Given the description of an element on the screen output the (x, y) to click on. 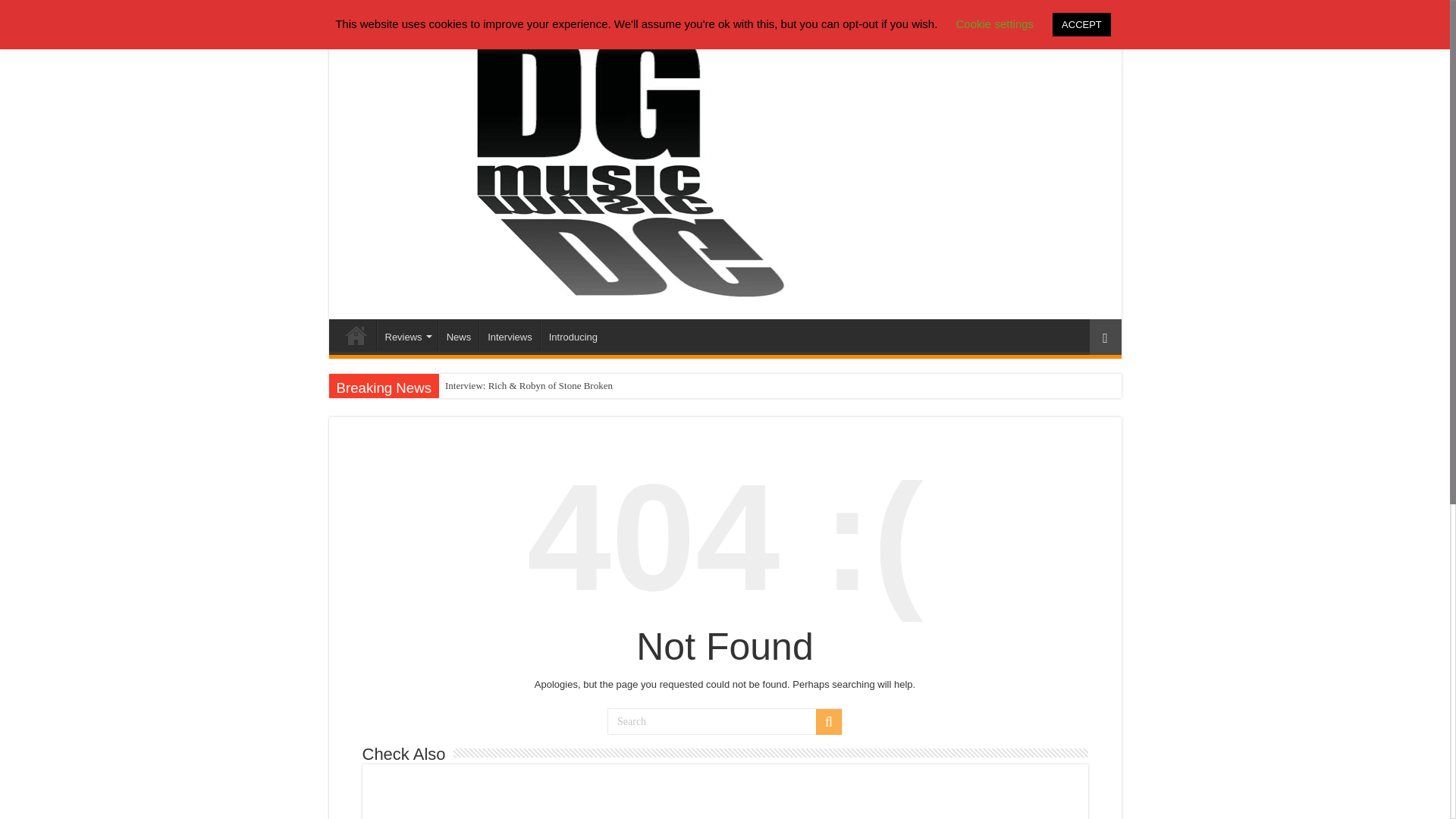
Introducing (572, 335)
Search (725, 721)
Search (828, 721)
News (458, 335)
Reviews (405, 335)
Interviews (509, 335)
Devils Gate Music (355, 335)
